Given the description of an element on the screen output the (x, y) to click on. 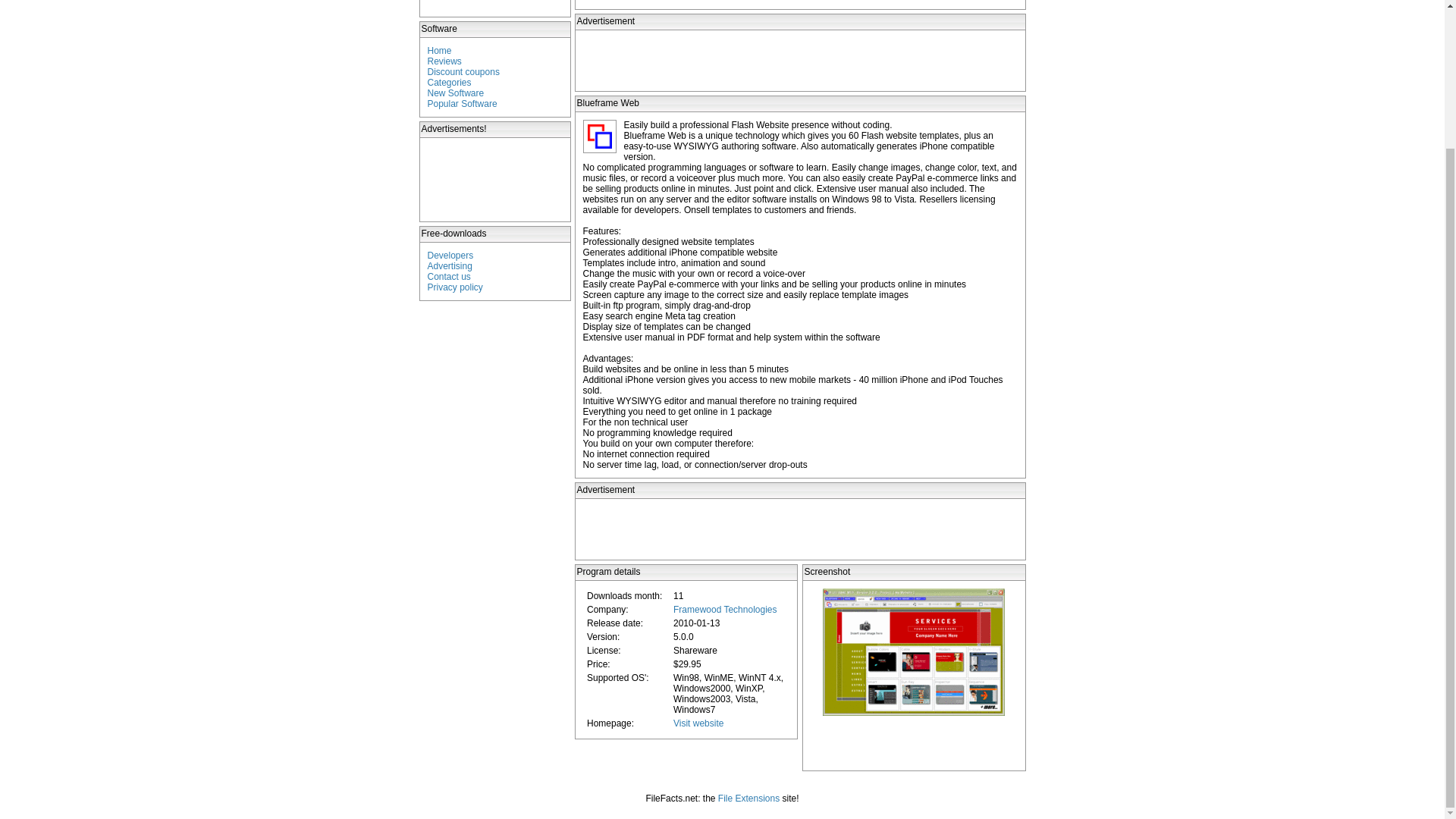
Categories (449, 81)
Advertisement (799, 60)
Contact us (449, 276)
Discount coupons (463, 71)
Advertising (449, 266)
Framewood Technologies (724, 609)
Home (439, 50)
Popular Software (462, 103)
Visit website (697, 723)
Advertisement (496, 179)
File Extensions (747, 798)
New Software (456, 92)
Reviews (444, 61)
Advertisement (799, 529)
Privacy policy (455, 286)
